Given the description of an element on the screen output the (x, y) to click on. 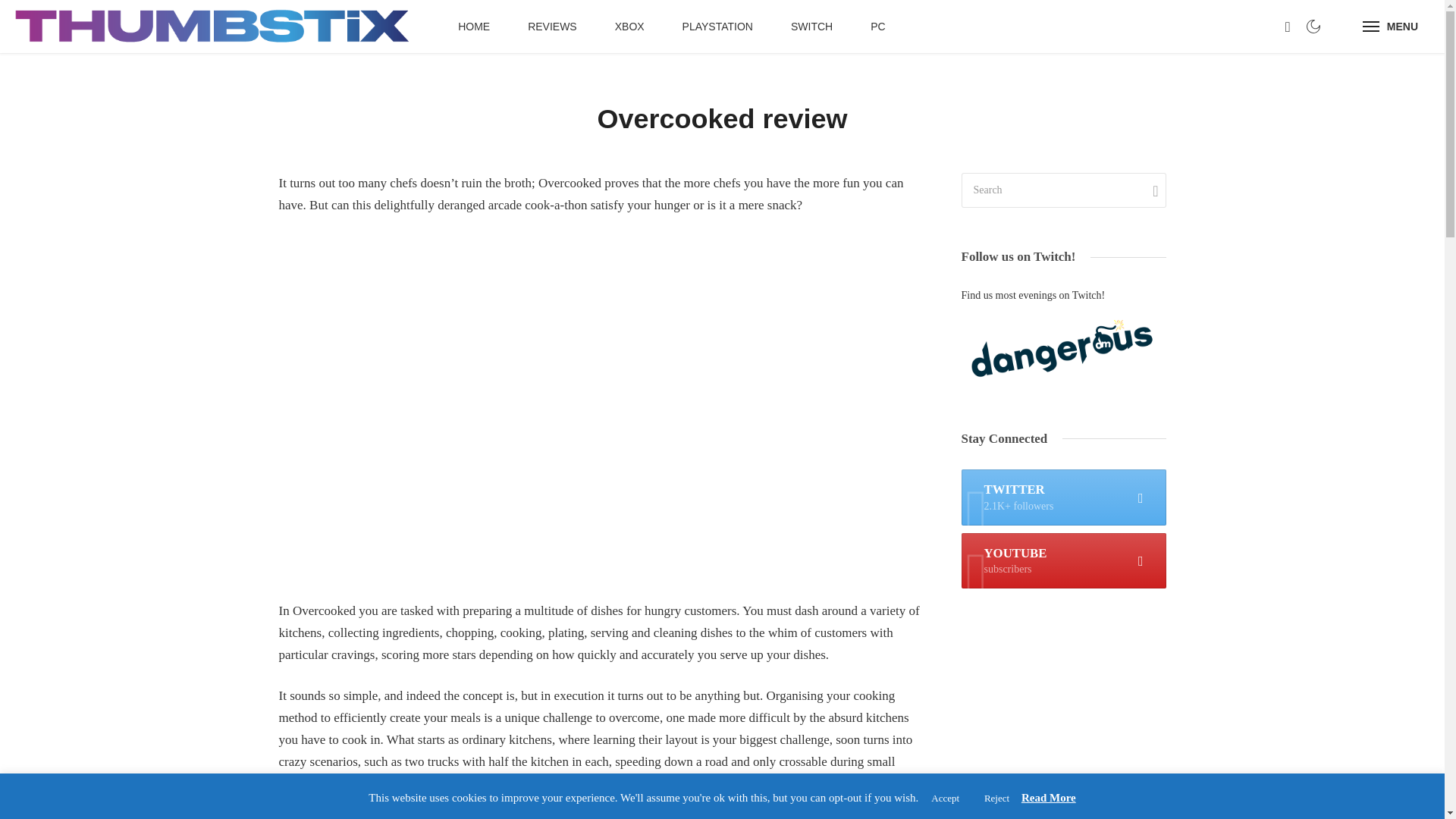
REVIEWS (551, 26)
PLAYSTATION (717, 26)
PC (877, 26)
XBOX (629, 26)
SWITCH (811, 26)
MENU (1063, 560)
HOME (1390, 26)
